Given the description of an element on the screen output the (x, y) to click on. 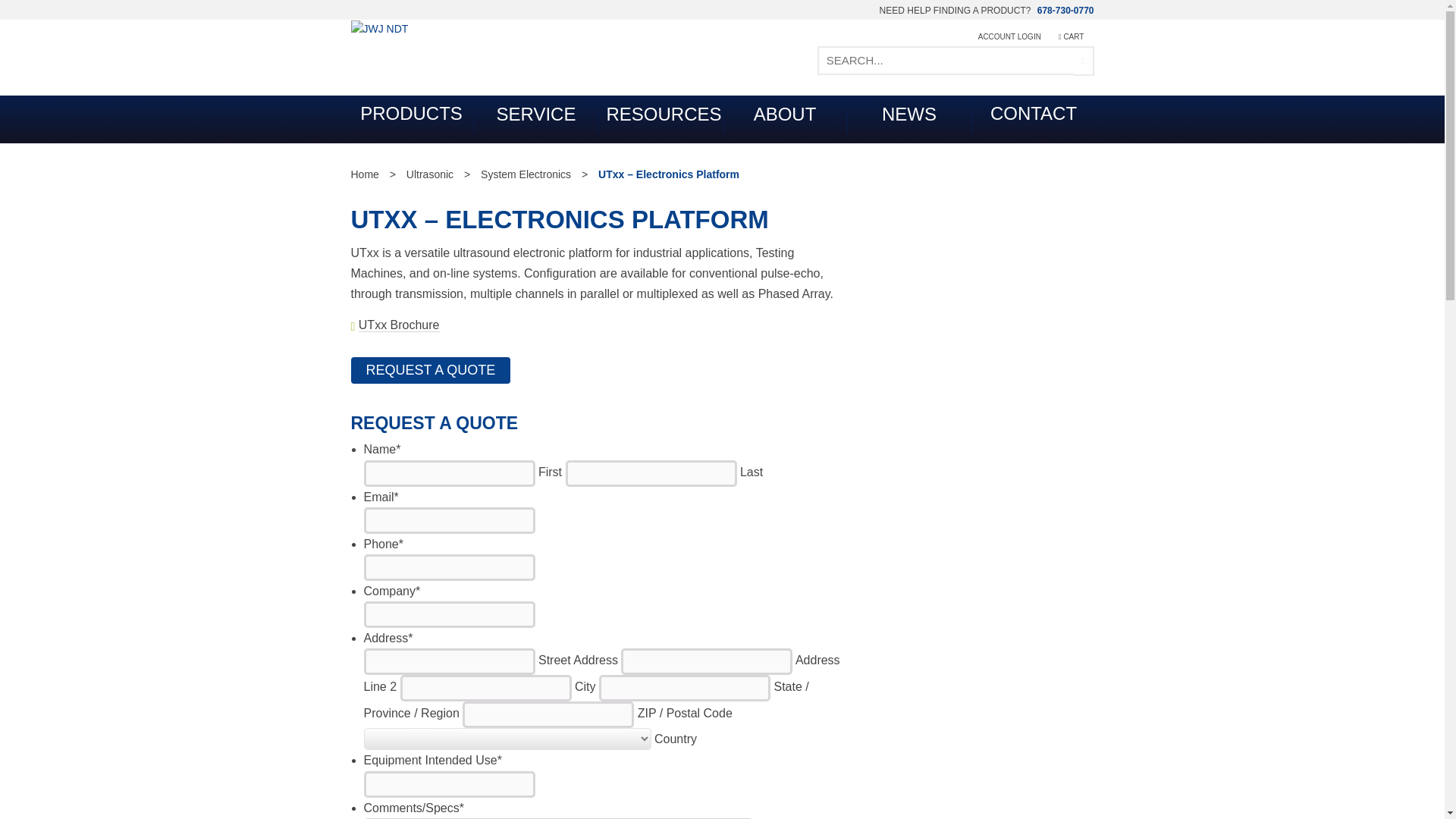
PRODUCTS (411, 114)
CART (1063, 31)
Search... (945, 60)
ACCOUNT LOGIN (1001, 31)
Search (1084, 60)
678-730-0770 (1063, 9)
JWJ NDT (378, 28)
